Given the description of an element on the screen output the (x, y) to click on. 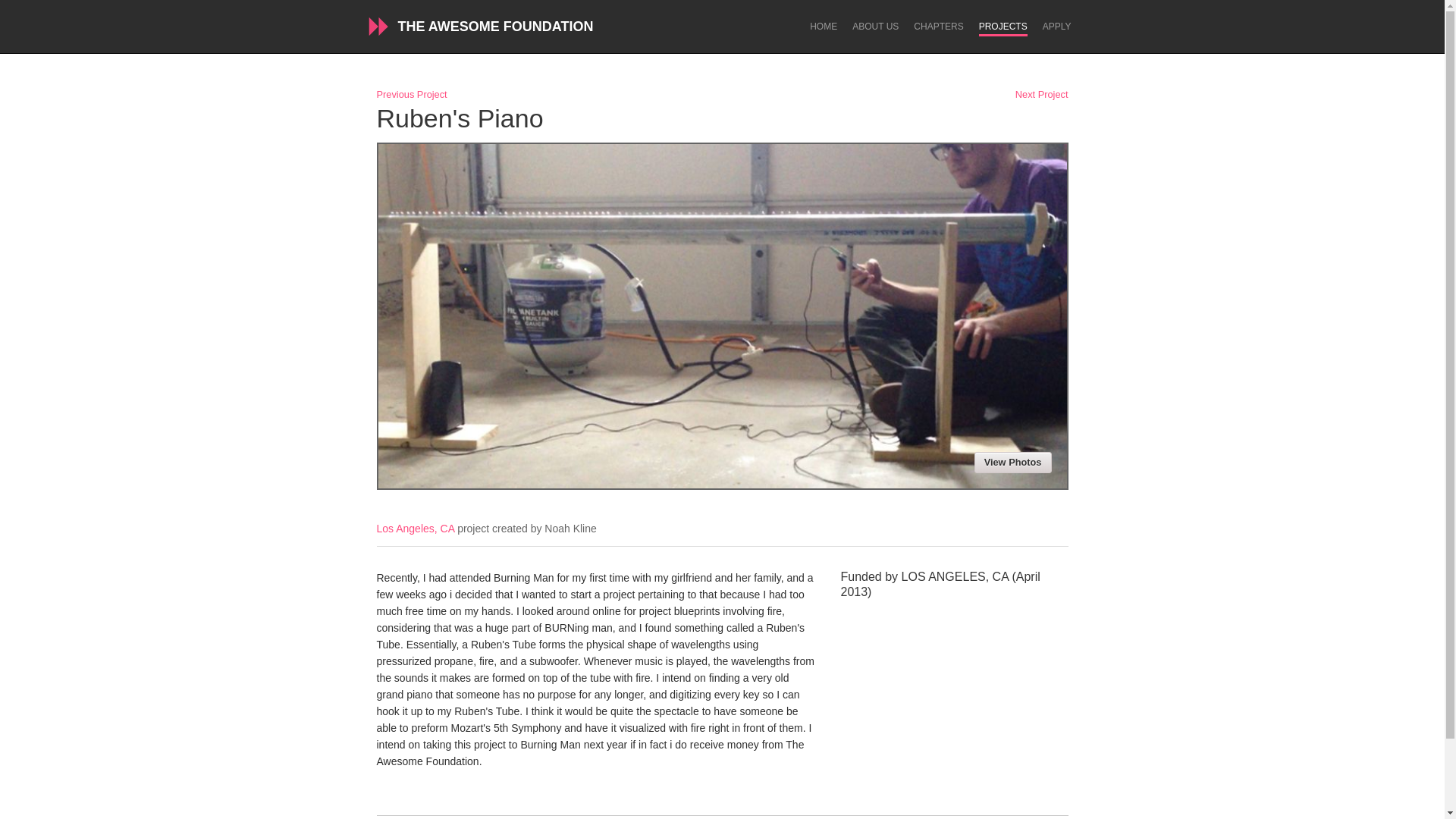
ABOUT US (874, 27)
CHAPTERS (938, 27)
PROJECTS (1002, 28)
HOME (823, 27)
APPLY (1056, 27)
